Given the description of an element on the screen output the (x, y) to click on. 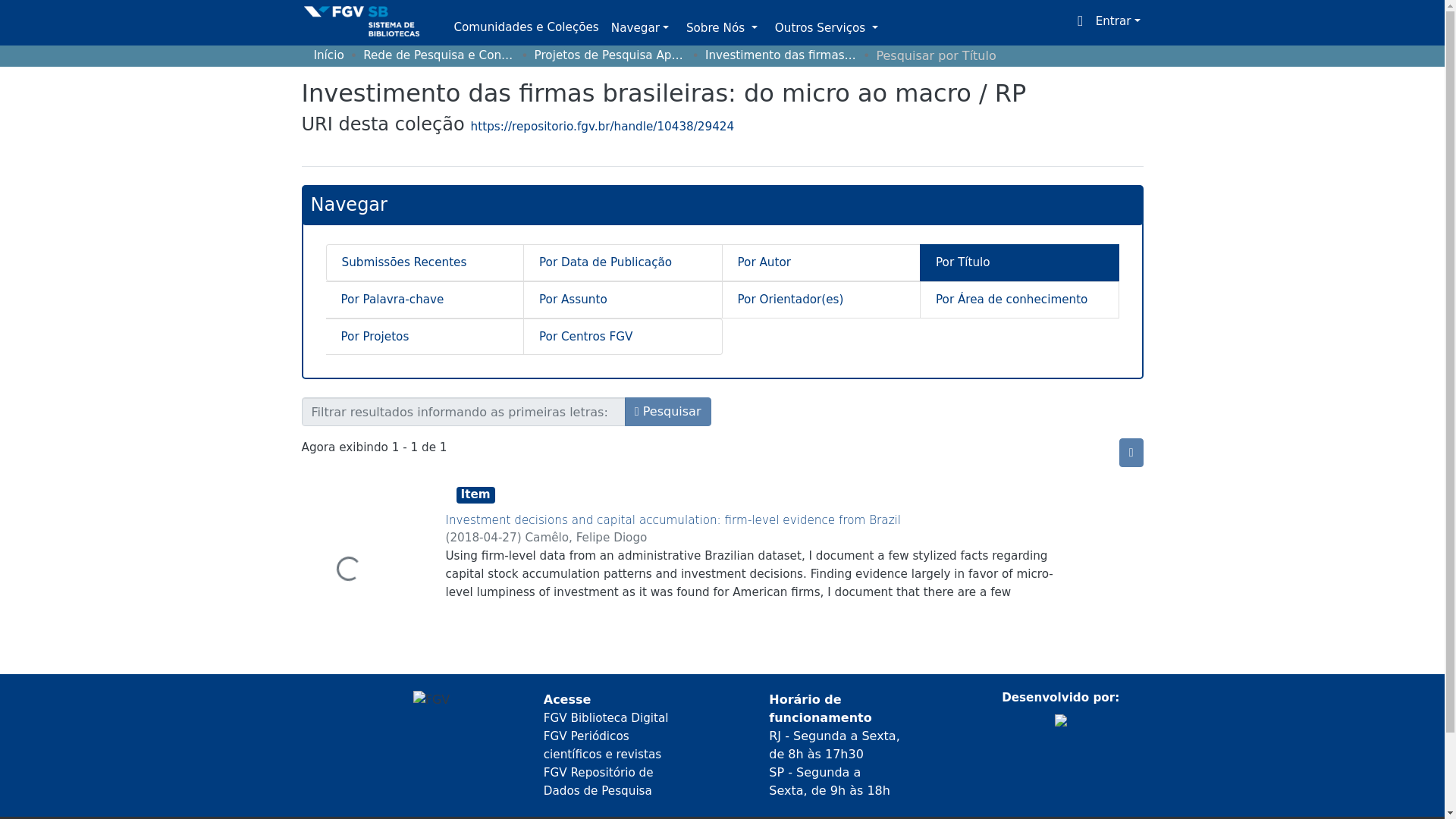
Selecionar um idioma (1080, 21)
Por Palavra-chave (425, 299)
Navegar (640, 28)
Por Autor (821, 262)
Por Projetos (425, 336)
Projetos de Pesquisa Aplicada (609, 55)
Entrar (1117, 20)
Rede de Pesquisa e Conhecimento Aplicado (438, 55)
Por Assunto (623, 299)
